Given the description of an element on the screen output the (x, y) to click on. 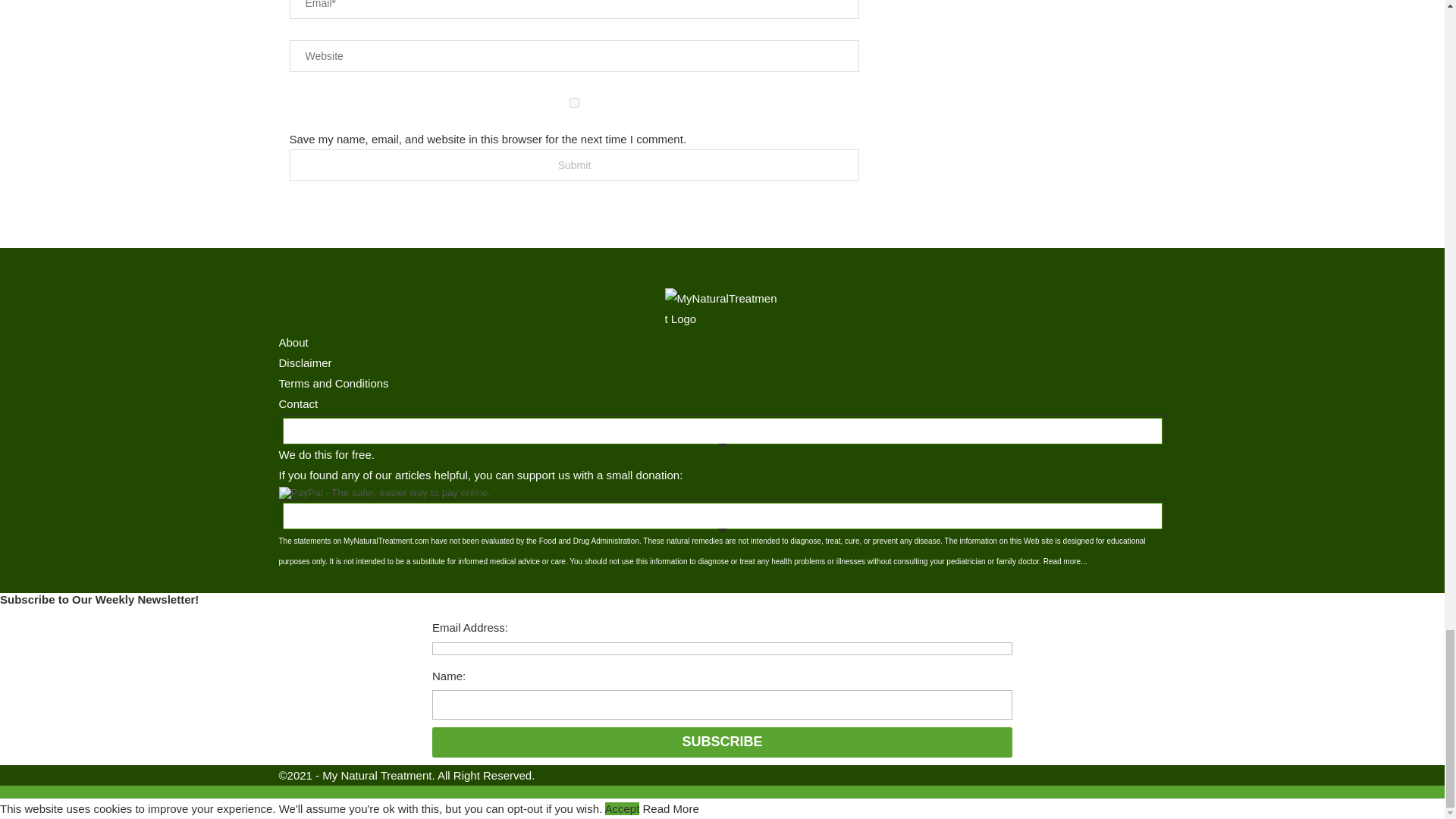
Submit (574, 164)
Submit (574, 164)
Subscribe (721, 742)
yes (574, 102)
